Given the description of an element on the screen output the (x, y) to click on. 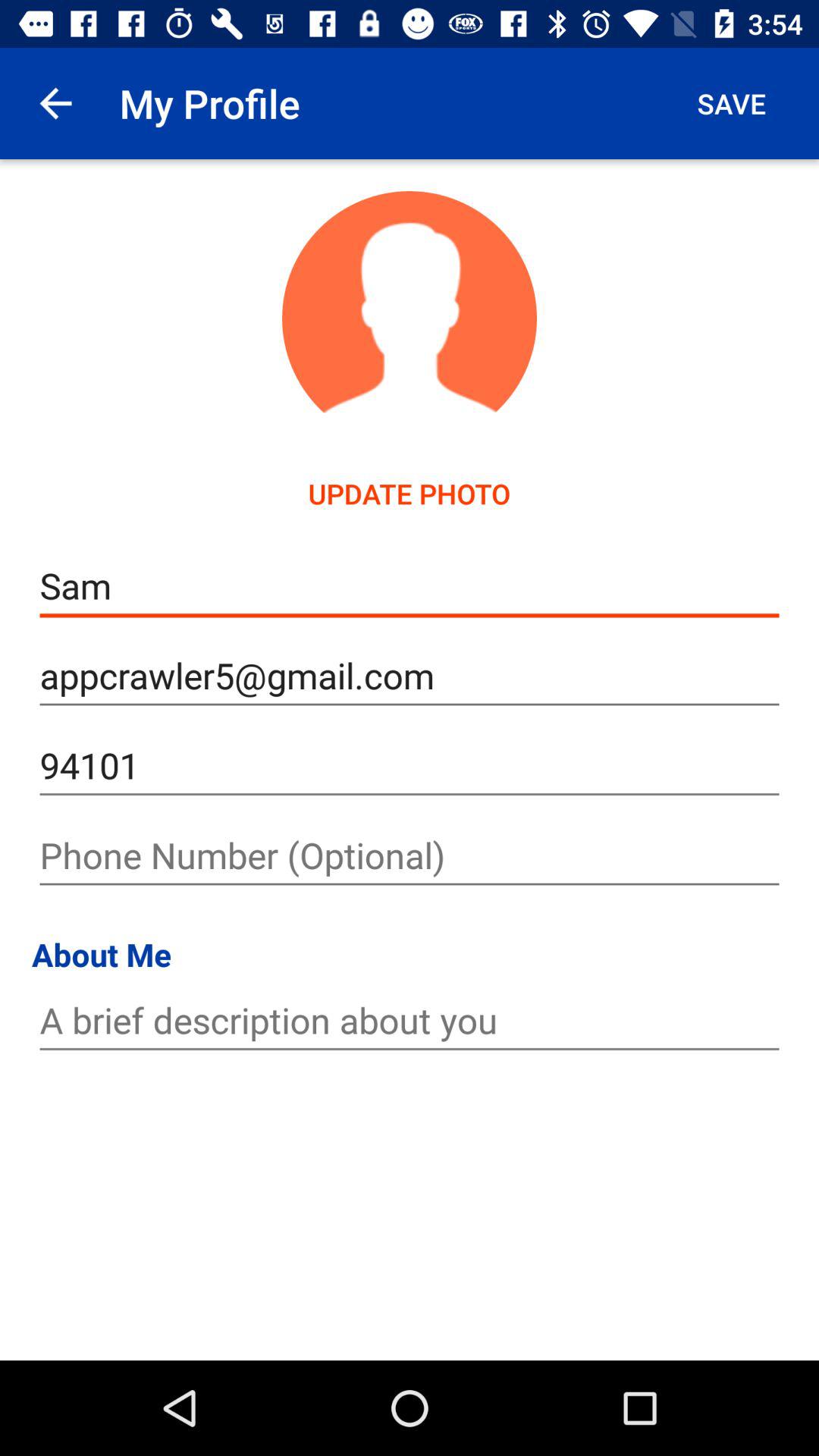
click the update photo (409, 493)
